Given the description of an element on the screen output the (x, y) to click on. 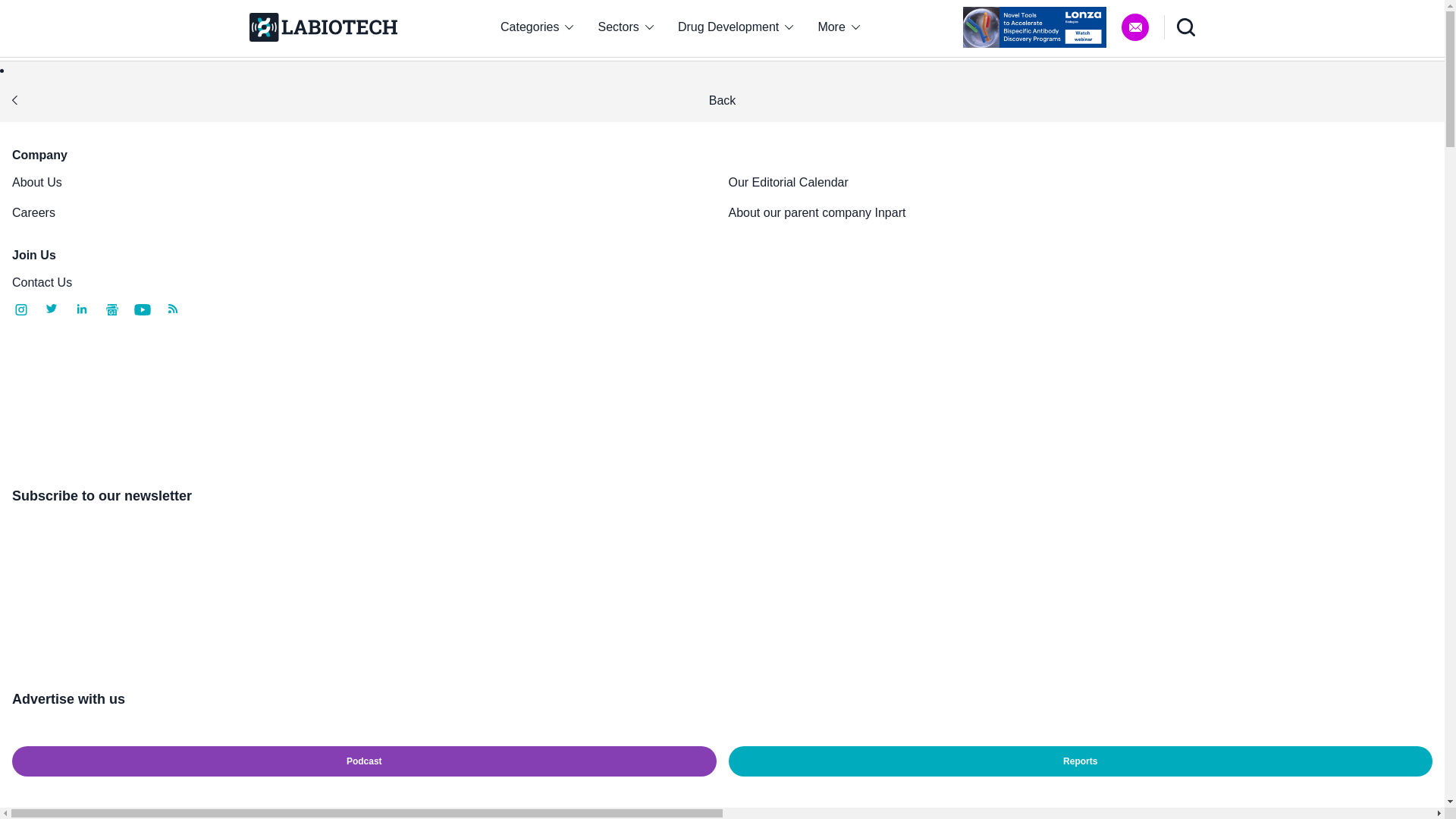
Labiotech.eu (322, 27)
Categories (536, 27)
Drug Development (735, 27)
Sectors (625, 27)
